Given the description of an element on the screen output the (x, y) to click on. 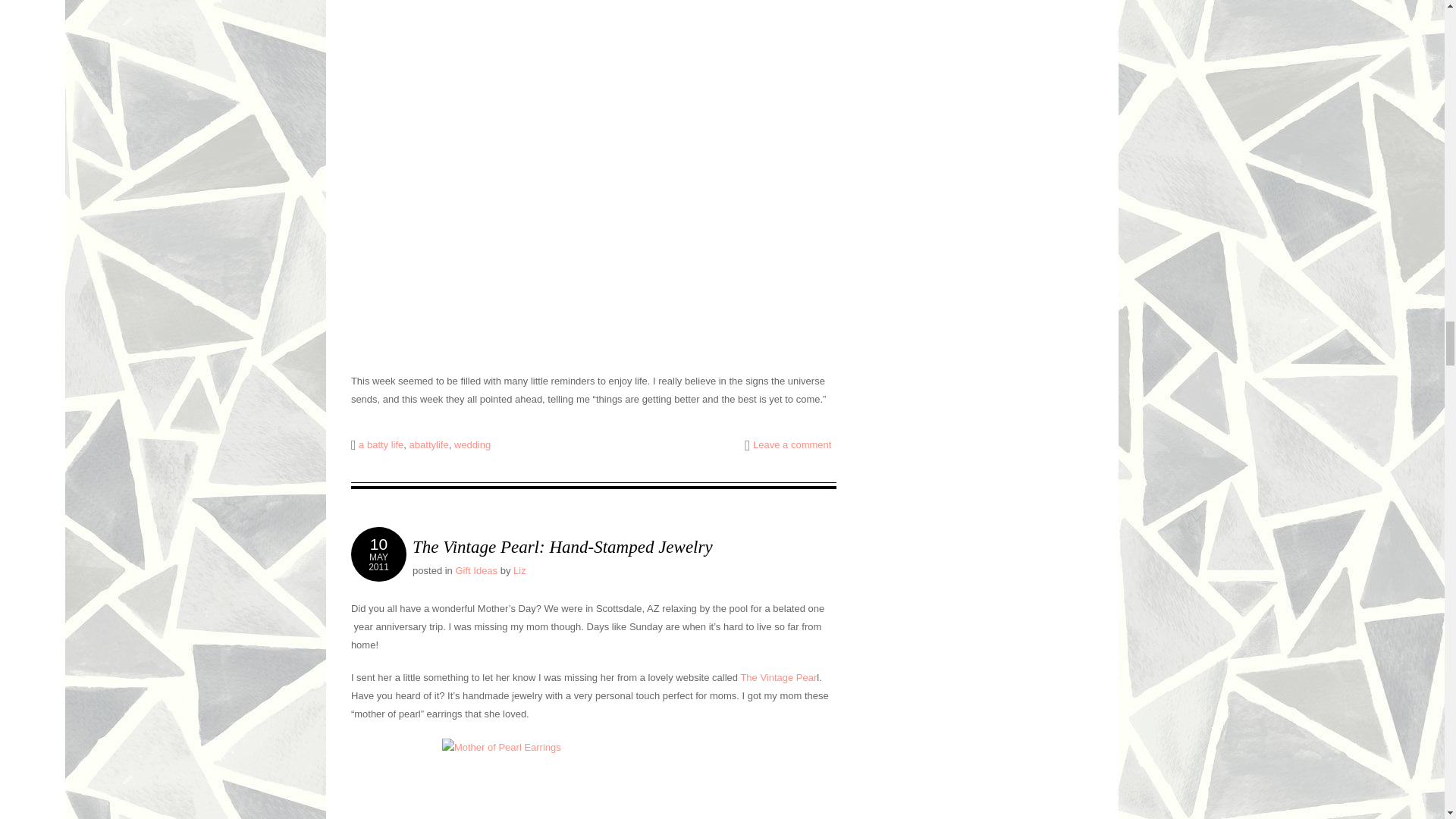
11:18 am (377, 553)
Permalink to The Vintage Pearl: Hand-Stamped Jewelry (562, 546)
Mother of Pearl Earrings (593, 778)
View all posts by Liz (519, 570)
